Given the description of an element on the screen output the (x, y) to click on. 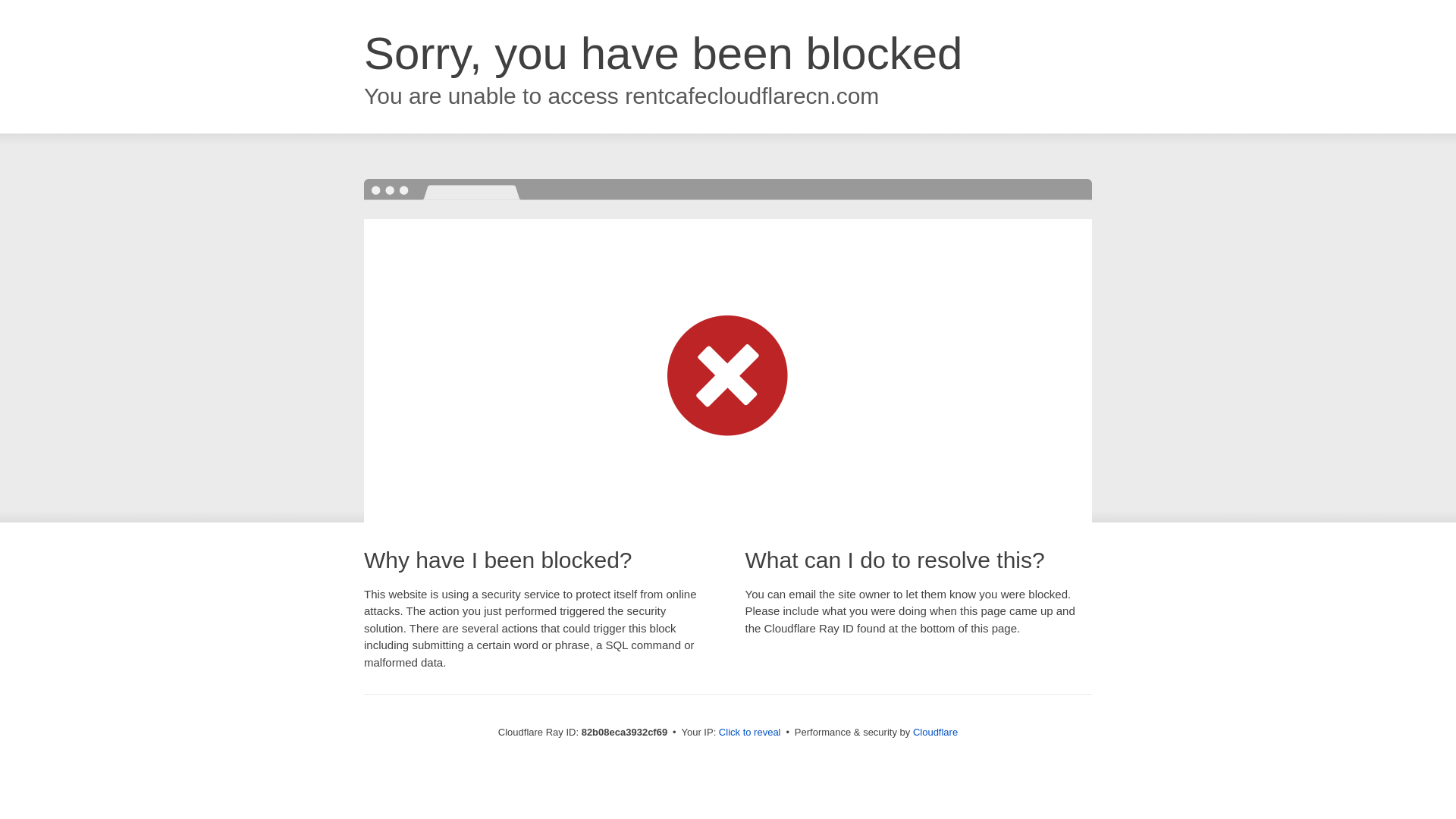
Click to reveal Element type: text (749, 732)
Cloudflare Element type: text (935, 731)
